Given the description of an element on the screen output the (x, y) to click on. 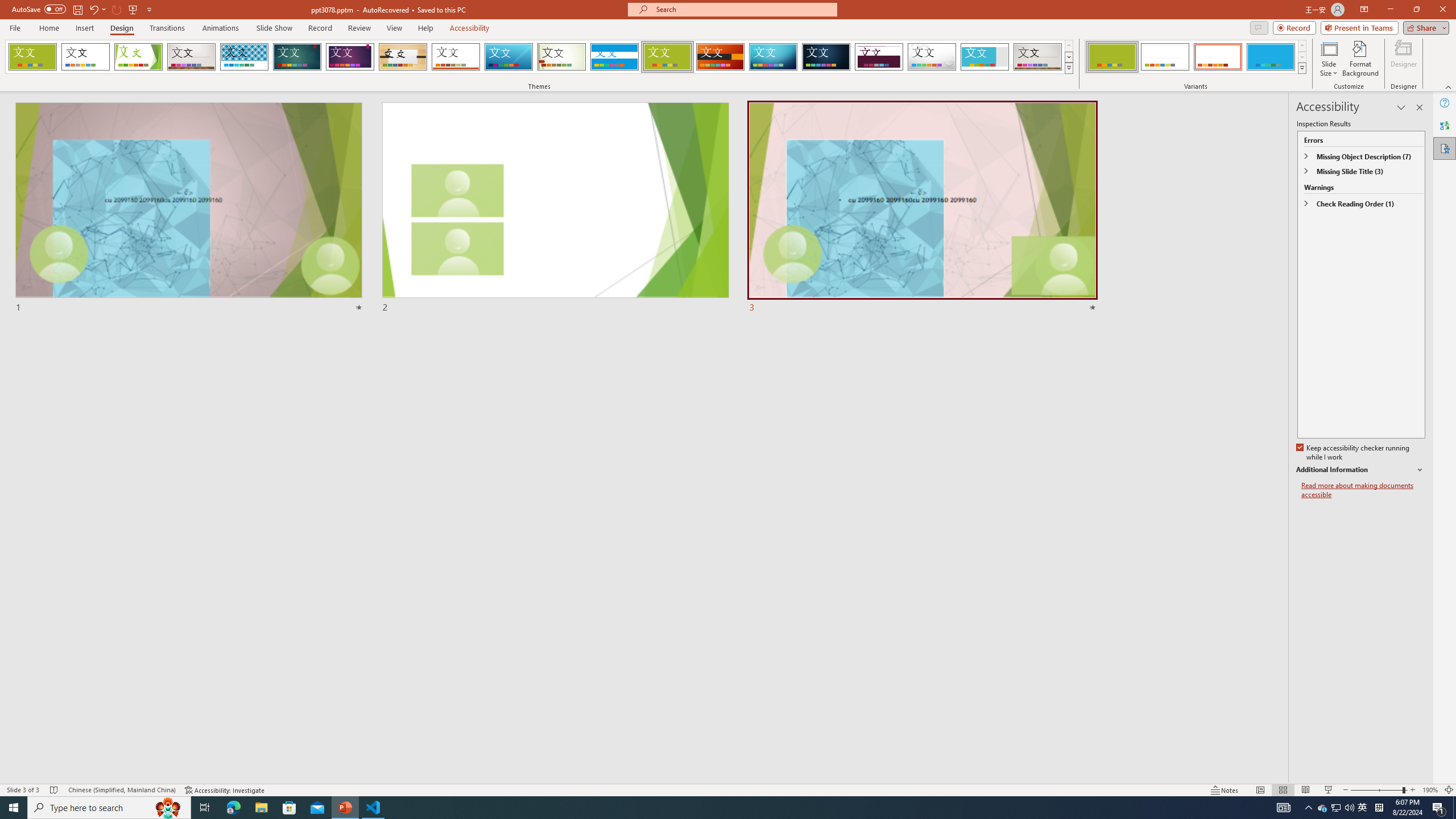
Read more about making documents accessible (1363, 489)
Banded (614, 56)
Office Theme (85, 56)
Translator (1444, 125)
Facet (138, 56)
